Given the description of an element on the screen output the (x, y) to click on. 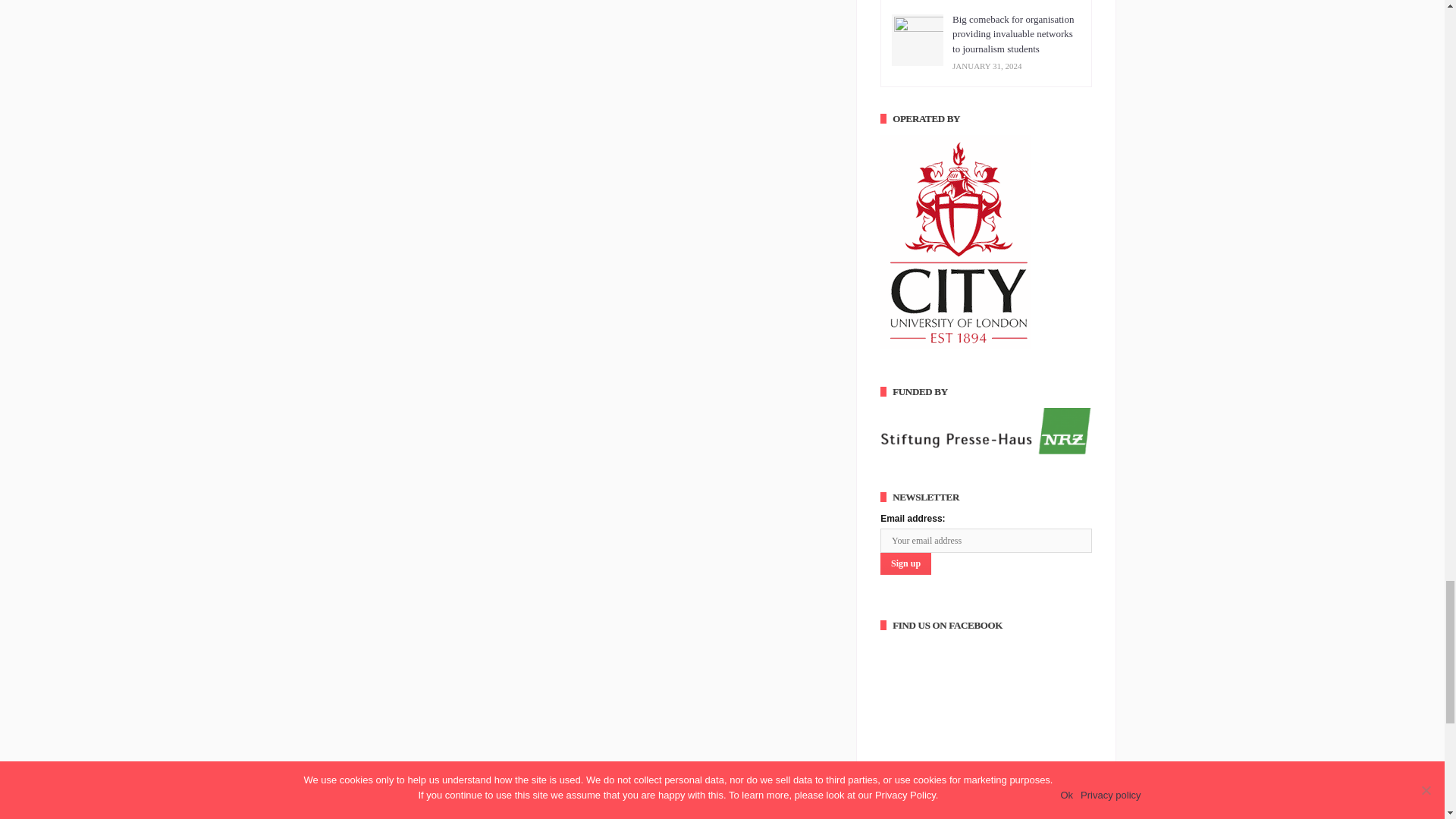
Sign up (905, 563)
